Given the description of an element on the screen output the (x, y) to click on. 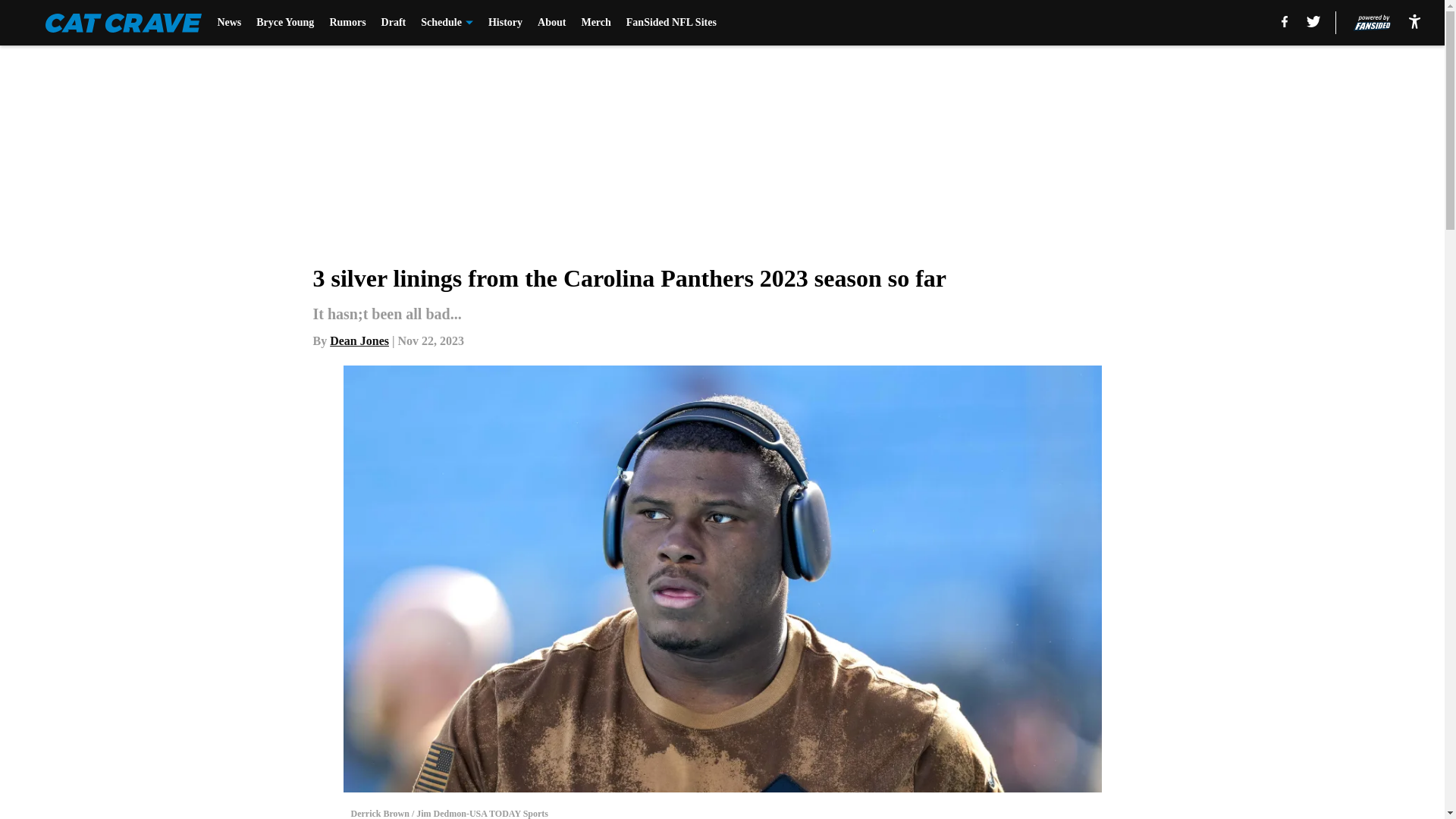
Merch (595, 22)
Dean Jones (359, 340)
Rumors (347, 22)
News (228, 22)
About (551, 22)
Draft (393, 22)
History (504, 22)
Bryce Young (285, 22)
FanSided NFL Sites (671, 22)
